Given the description of an element on the screen output the (x, y) to click on. 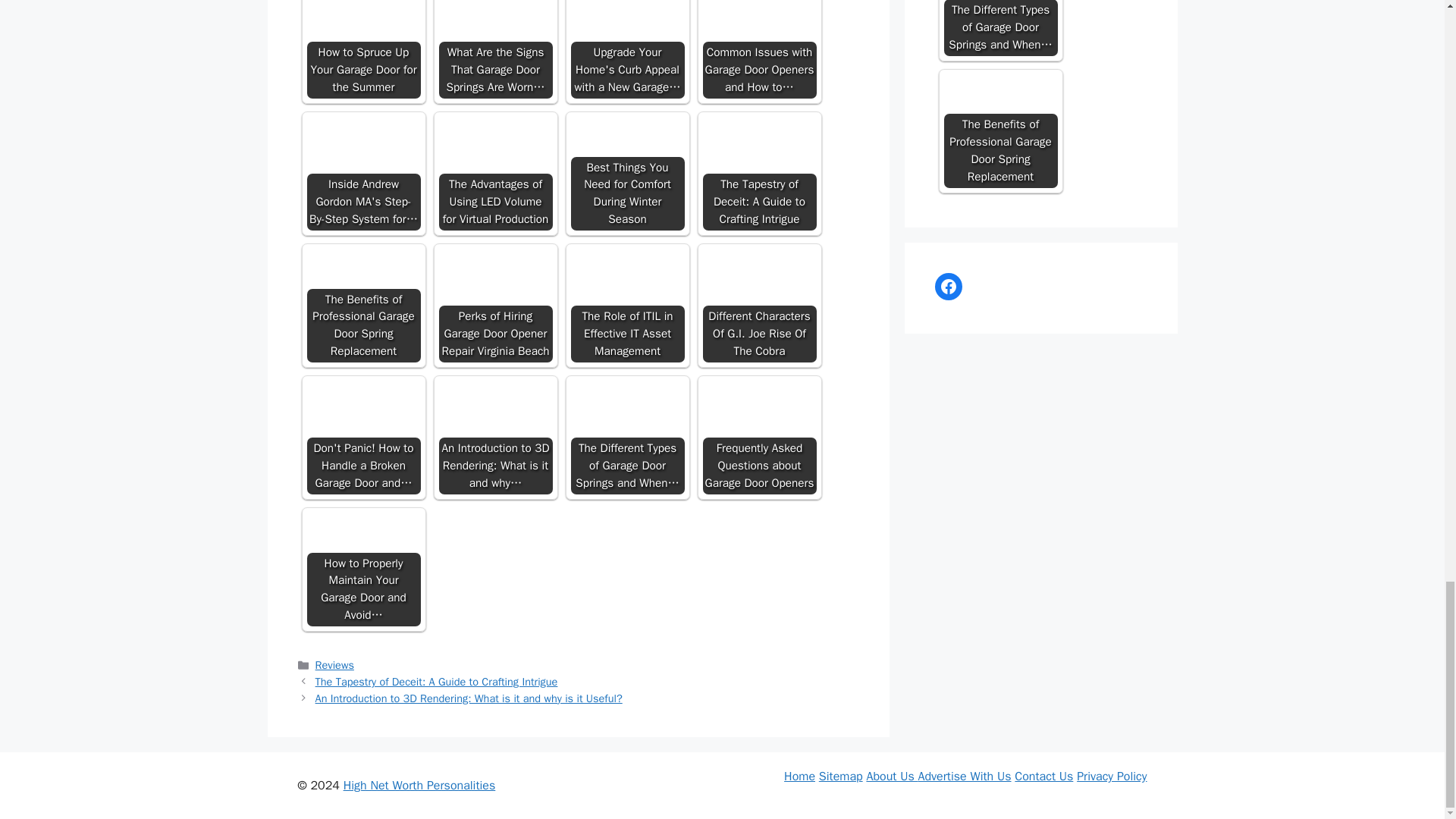
How to Spruce Up Your Garage Door for the Summer (362, 35)
The Role of ITIL in Effective IT Asset Management (627, 305)
The Advantages of Using LED Volume for Virtual Production (494, 173)
Best Things You Need for Comfort During Winter Season (627, 173)
The Benefits of Professional Garage Door Spring Replacement (362, 291)
Perks of Hiring Garage Door Opener Repair Virginia Beach (494, 291)
Different Characters Of G.I. Joe Rise Of The Cobra (758, 291)
The Tapestry of Deceit: A Guide to Crafting Intrigue (758, 173)
